Given the description of an element on the screen output the (x, y) to click on. 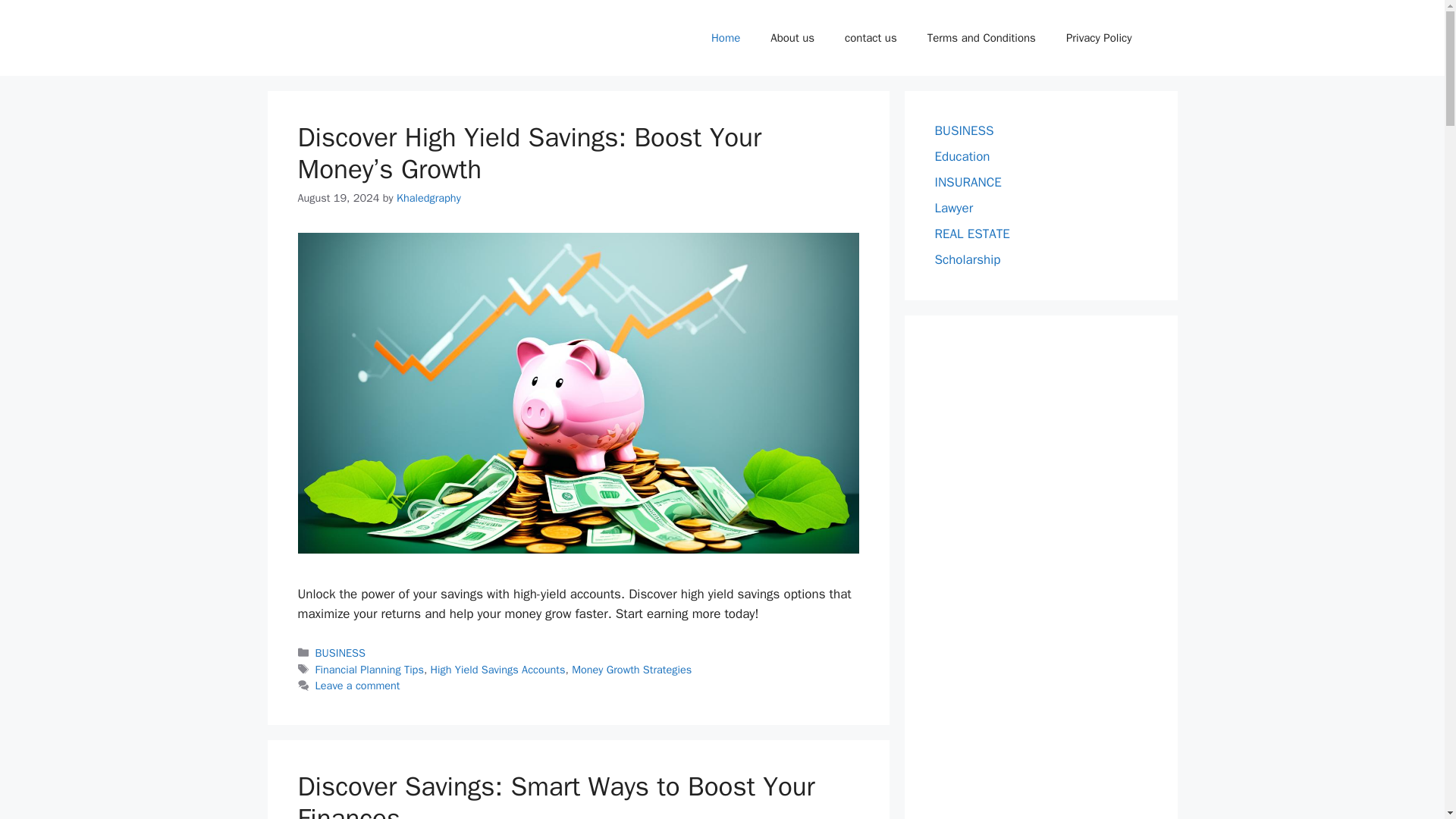
Privacy Policy (1099, 37)
Khaledgraphy (428, 197)
Discover Savings: Smart Ways to Boost Your Finances (555, 794)
Terms and Conditions (981, 37)
Financial Planning Tips (369, 669)
About us (792, 37)
contact us (870, 37)
Leave a comment (357, 685)
Money Growth Strategies (631, 669)
High Yield Savings Accounts (498, 669)
